Given the description of an element on the screen output the (x, y) to click on. 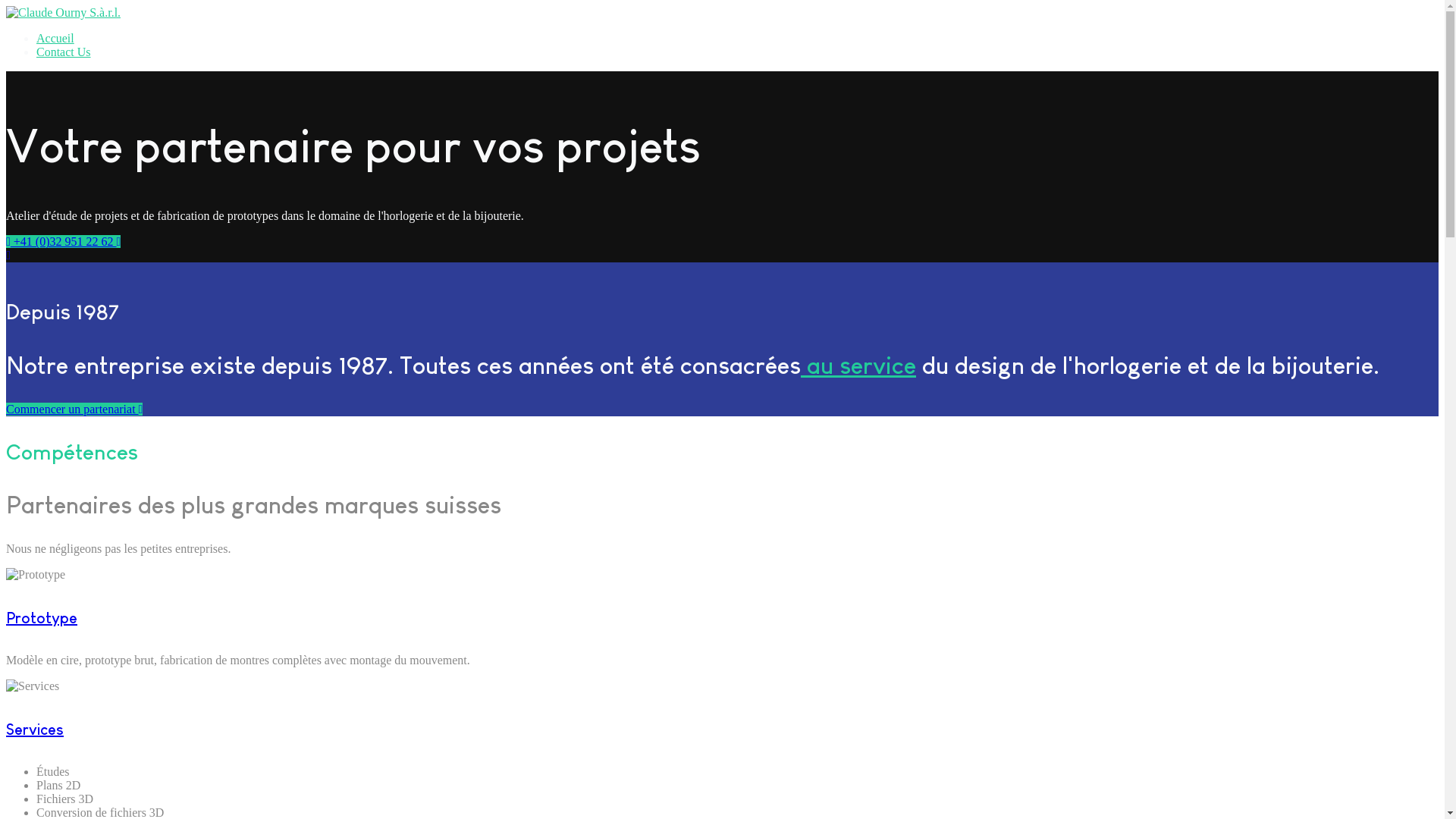
Services Element type: text (34, 729)
Contact Us Element type: text (63, 51)
Commencer un partenariat Element type: text (74, 408)
Accueil Element type: text (55, 37)
+41 (0)32 951 22 62 Element type: text (63, 241)
au service Element type: text (858, 365)
Prototype Element type: text (41, 617)
